Given the description of an element on the screen output the (x, y) to click on. 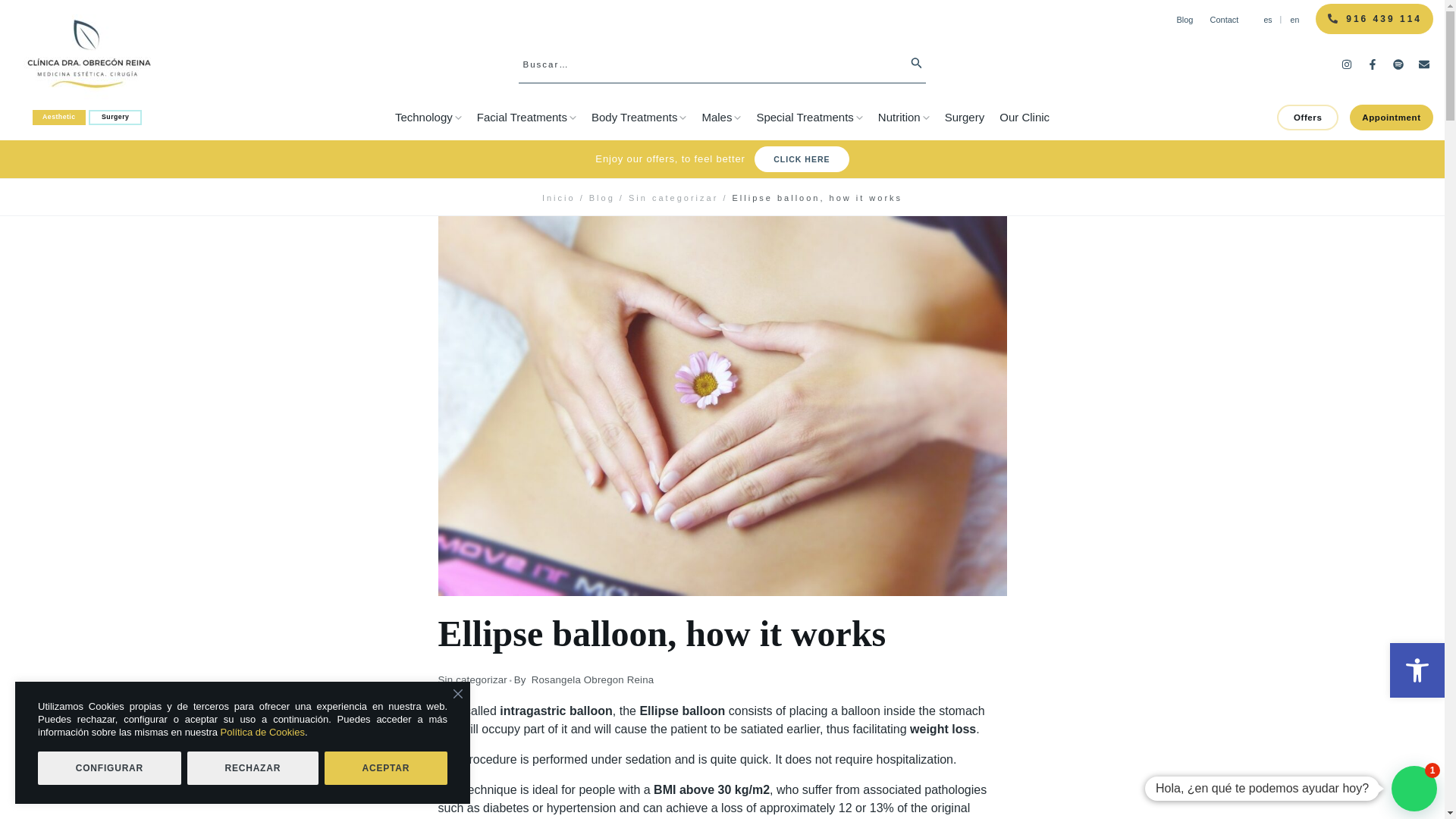
Blog (1184, 19)
CONFIGURAR (108, 767)
es (1267, 18)
RECHAZAR (252, 767)
Accessibility Tools (1417, 670)
Contact (1223, 19)
ACEPTAR (385, 767)
916 439 114 (1374, 19)
en (1294, 18)
View all posts by Rosangela Obregon Reina (592, 679)
